Given the description of an element on the screen output the (x, y) to click on. 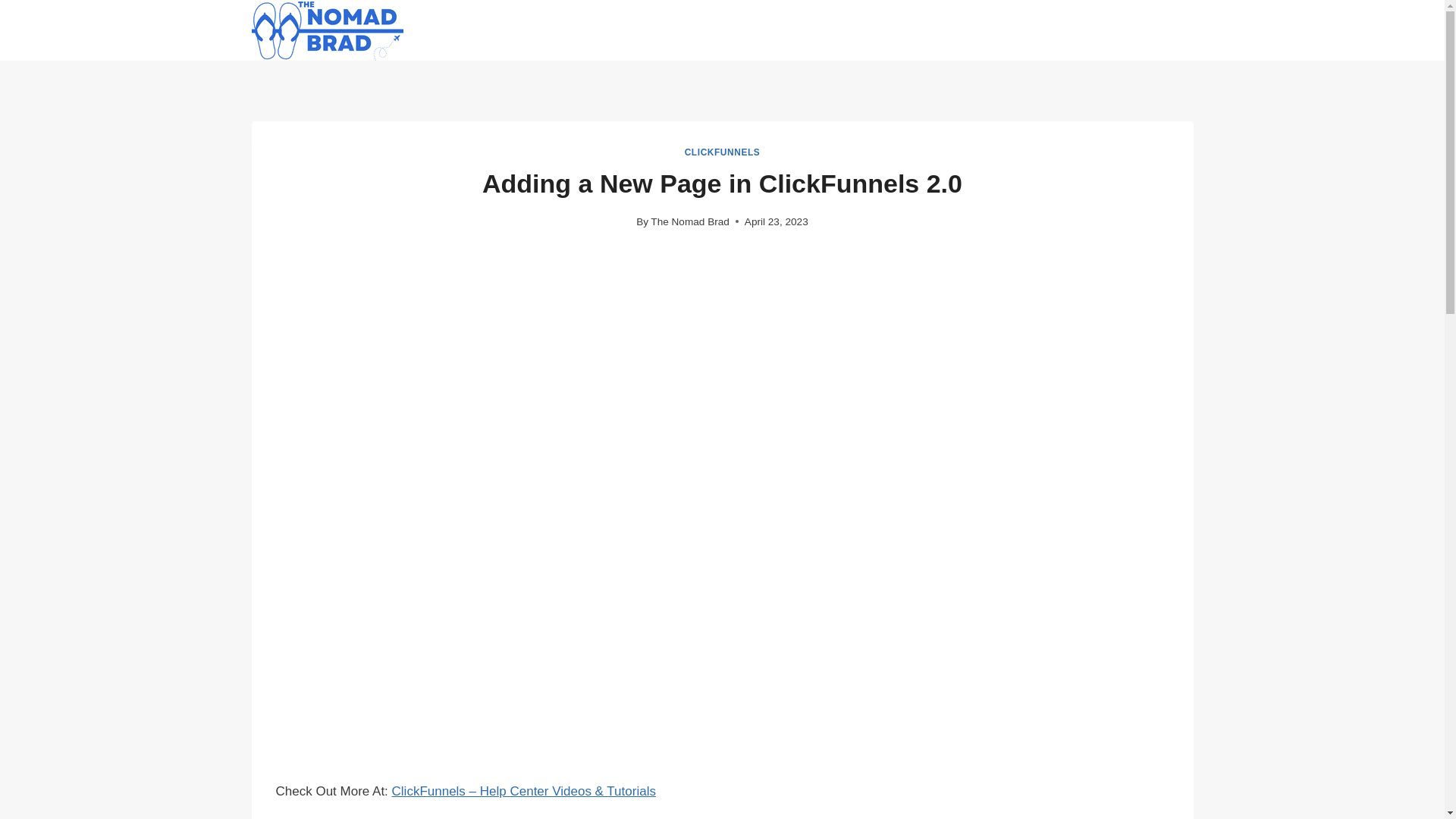
The Nomad Brad (689, 221)
CLICKFUNNELS (722, 152)
